Given the description of an element on the screen output the (x, y) to click on. 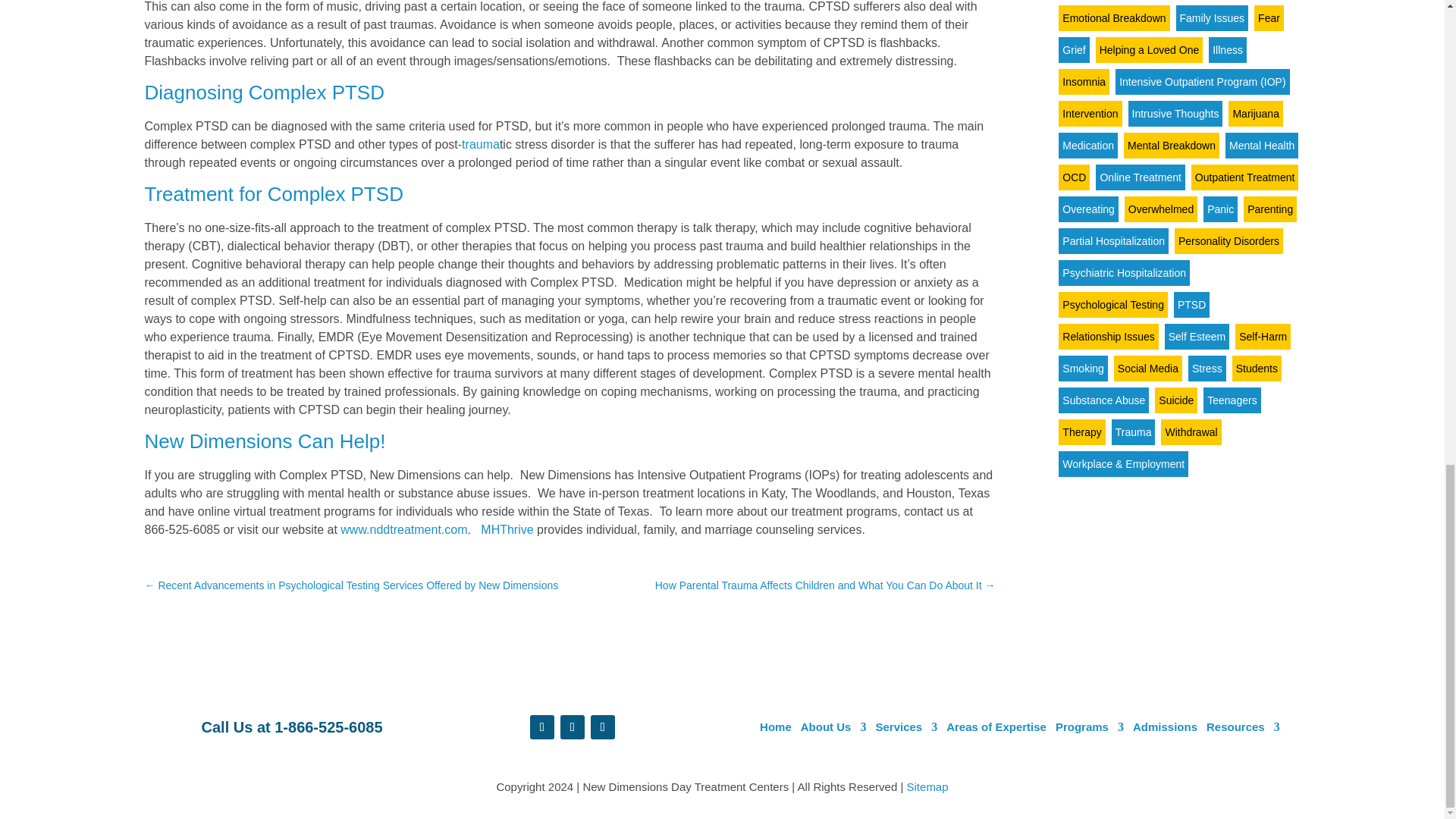
Follow on Facebook (541, 726)
Follow on Instagram (602, 726)
Follow on LinkedIn (572, 726)
